Given the description of an element on the screen output the (x, y) to click on. 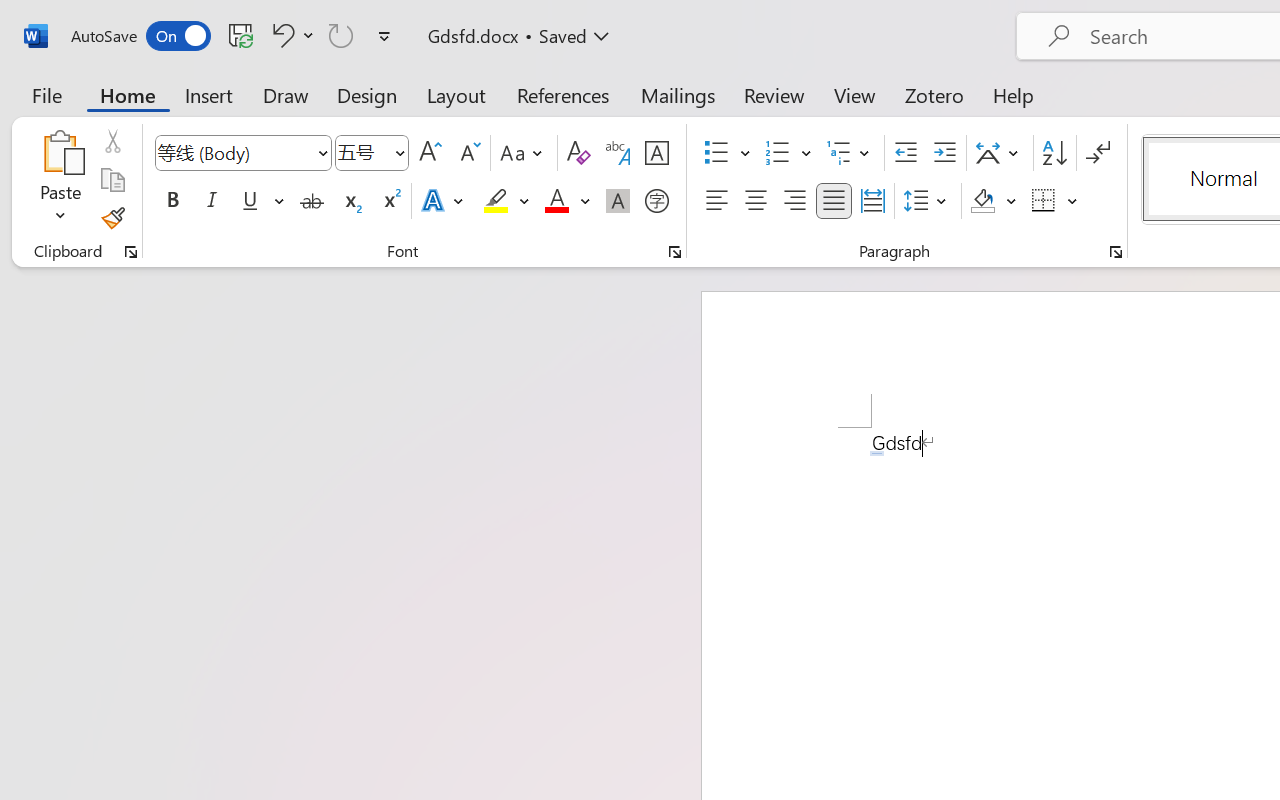
Undo AutoCorrect (280, 35)
Multilevel List (850, 153)
Font Color (567, 201)
Undo AutoCorrect (290, 35)
Shrink Font (468, 153)
Text Highlight Color (506, 201)
Paragraph... (1115, 252)
Asian Layout (1000, 153)
Align Right (794, 201)
Line and Paragraph Spacing (927, 201)
Shading (993, 201)
Center (756, 201)
